Given the description of an element on the screen output the (x, y) to click on. 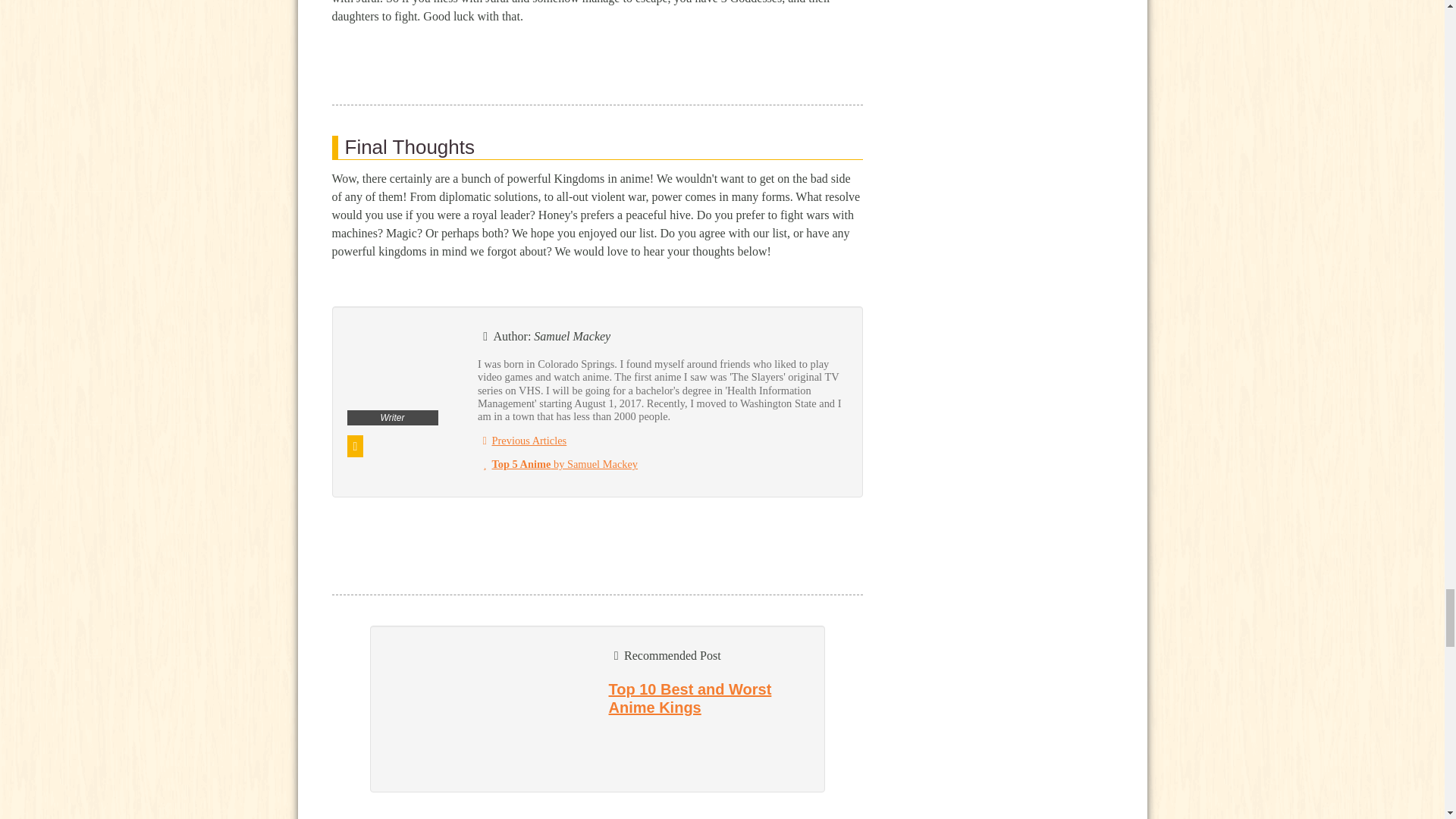
Previous Articles (521, 440)
Top 5 Anime by Samuel Mackey (557, 463)
Top 10 Best and Worst Anime Kings (689, 697)
